Given the description of an element on the screen output the (x, y) to click on. 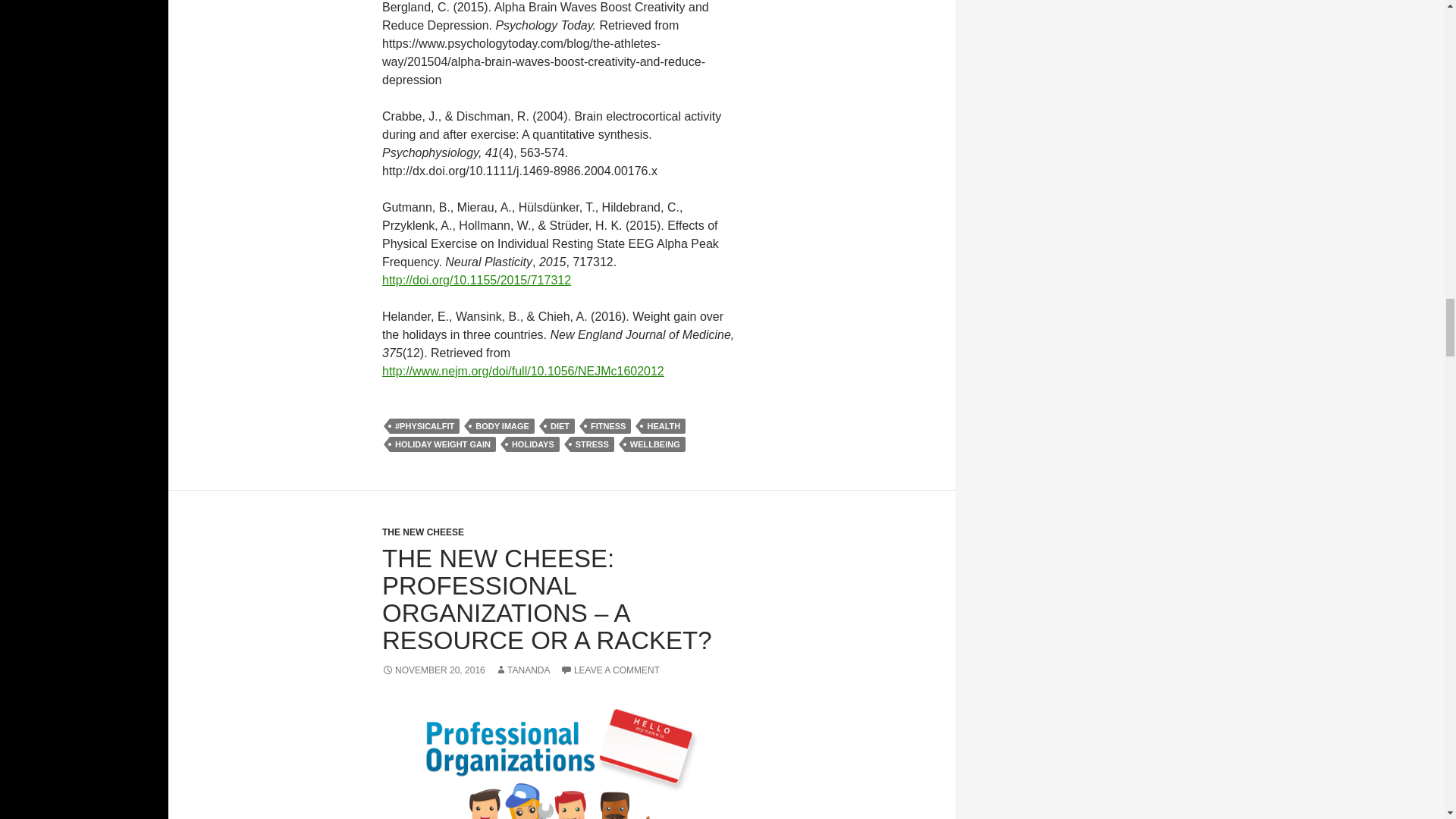
LEAVE A COMMENT (609, 670)
WELLBEING (654, 444)
TANANDA (522, 670)
FITNESS (607, 426)
BODY IMAGE (502, 426)
THE NEW CHEESE (422, 532)
HEALTH (663, 426)
HOLIDAYS (532, 444)
STRESS (592, 444)
DIET (559, 426)
NOVEMBER 20, 2016 (432, 670)
HOLIDAY WEIGHT GAIN (443, 444)
